Given the description of an element on the screen output the (x, y) to click on. 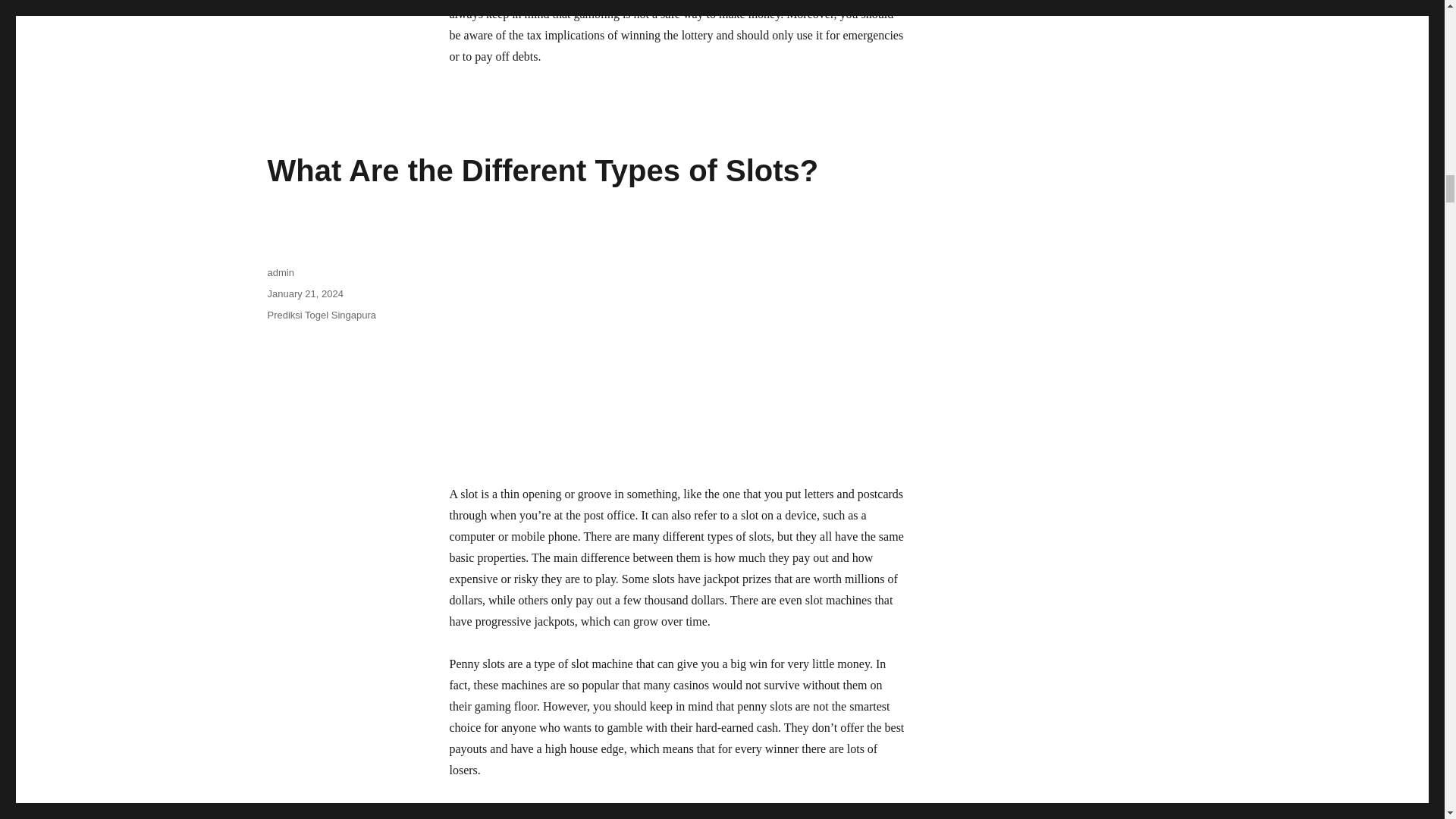
January 21, 2024 (304, 293)
Prediksi Togel Singapura (320, 315)
admin (280, 272)
What Are the Different Types of Slots? (542, 170)
